Given the description of an element on the screen output the (x, y) to click on. 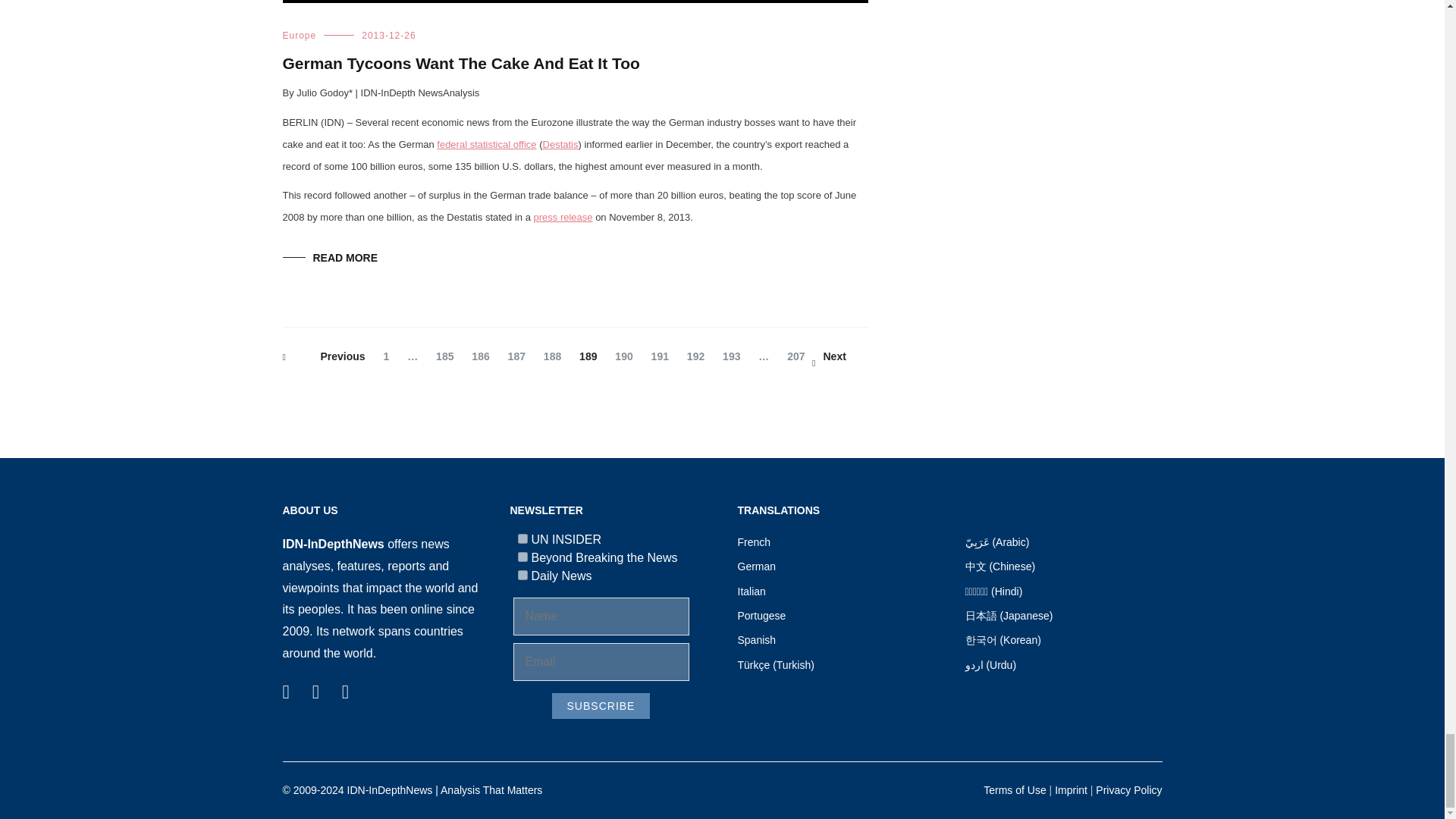
Terms of Use (1014, 789)
9 (521, 556)
Privacy Policy (1128, 789)
7 (521, 538)
10 (521, 574)
Imprint (1070, 789)
